Given the description of an element on the screen output the (x, y) to click on. 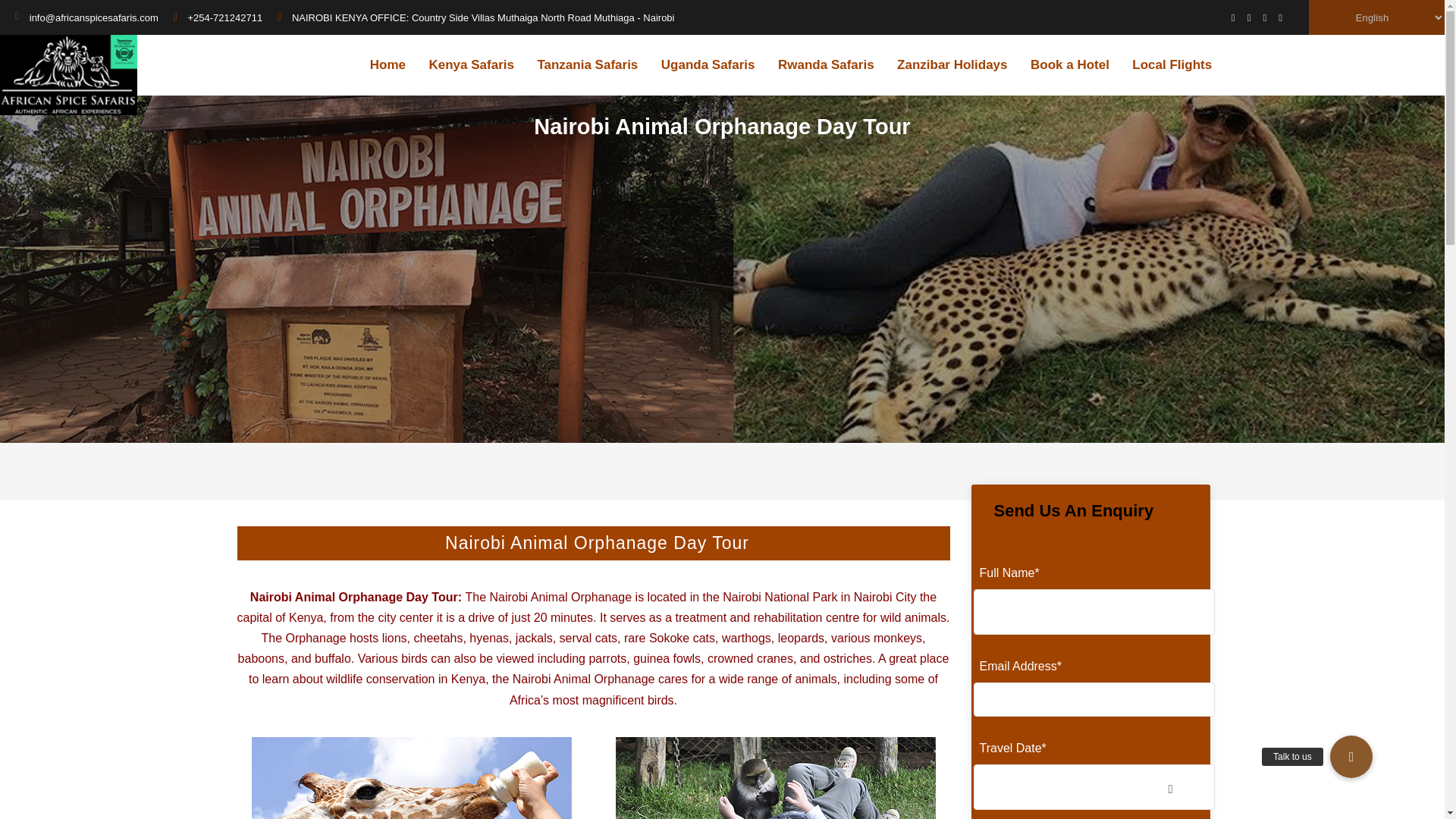
Home (387, 64)
Zanzibar Holidays (951, 64)
Nairobi Animal Orphanage Day Tour (354, 596)
Local Flights (1171, 64)
Rwanda Safaris (825, 64)
Tanzania Safaris (587, 64)
Kenya Safaris (470, 64)
Uganda Safaris (708, 64)
nairobi-orphanage-day-trip (775, 778)
animal-orphanage-nairobi (411, 778)
Book a Hotel (1069, 64)
